Given the description of an element on the screen output the (x, y) to click on. 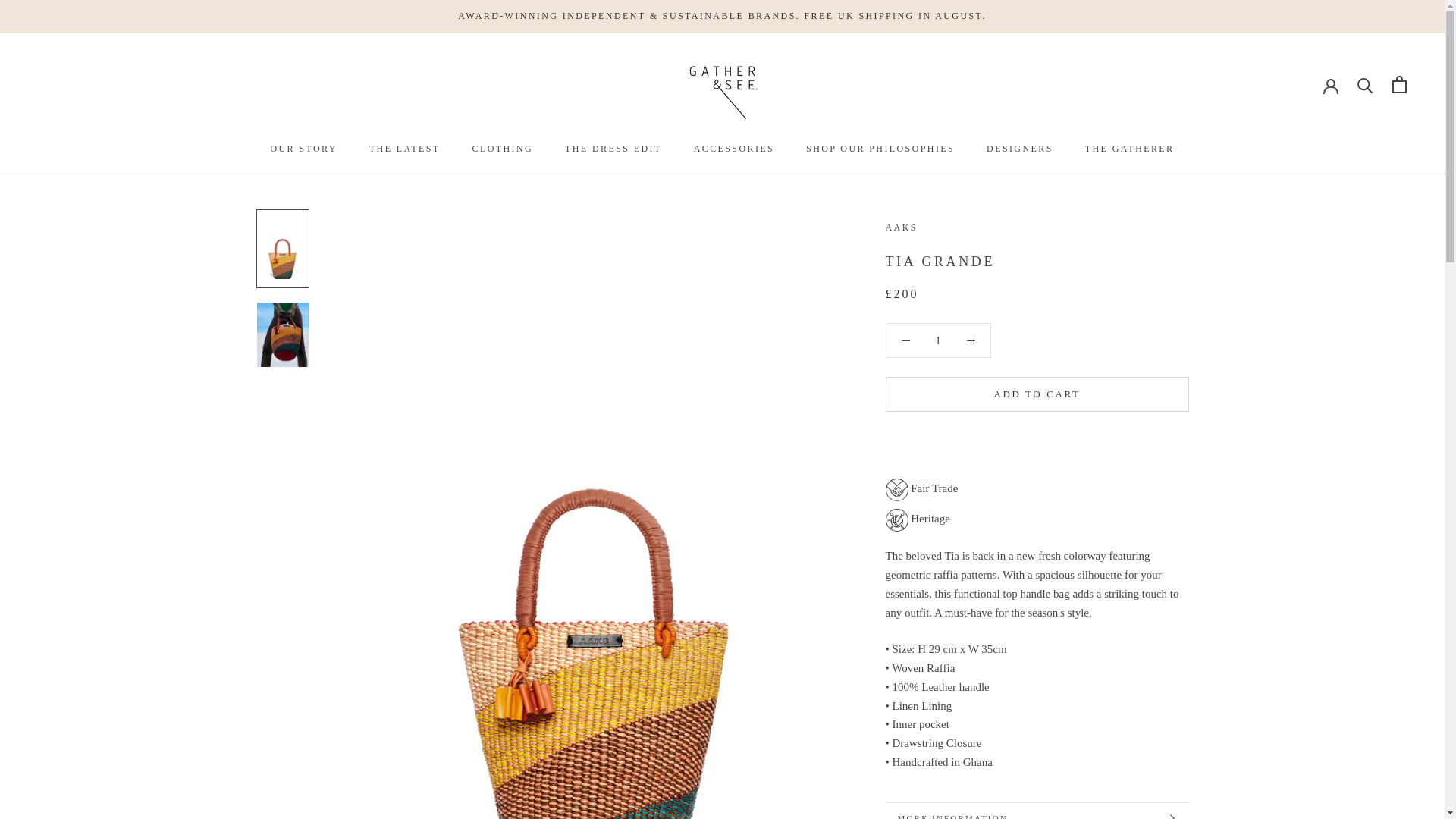
Heritage (1037, 519)
Fair Trade (1029, 489)
1 (938, 340)
